Given the description of an element on the screen output the (x, y) to click on. 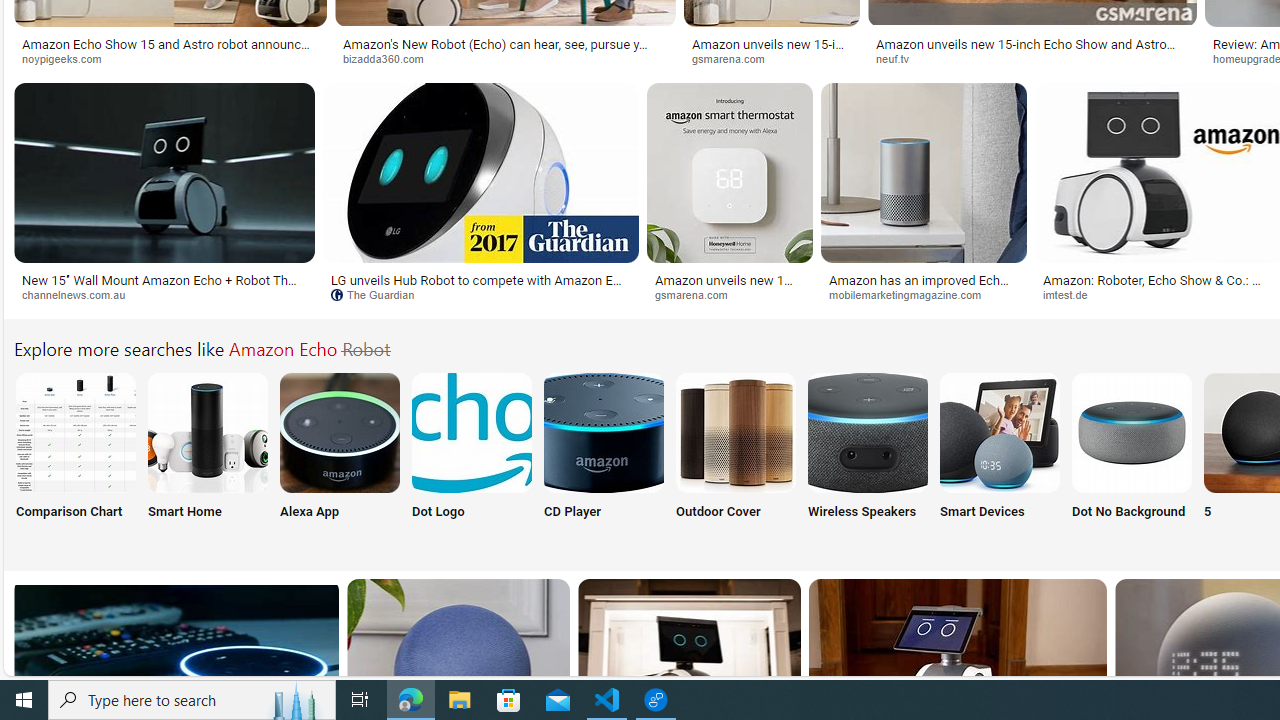
bizadda360.com (390, 57)
Amazon Echo Smart Home Smart Home (207, 458)
Amazon Echo Dot Photo No Background Dot No Background (1131, 458)
channelnews.com.au (164, 295)
Image result for Amazon Echo Robot (923, 172)
CD Player (604, 457)
